Given the description of an element on the screen output the (x, y) to click on. 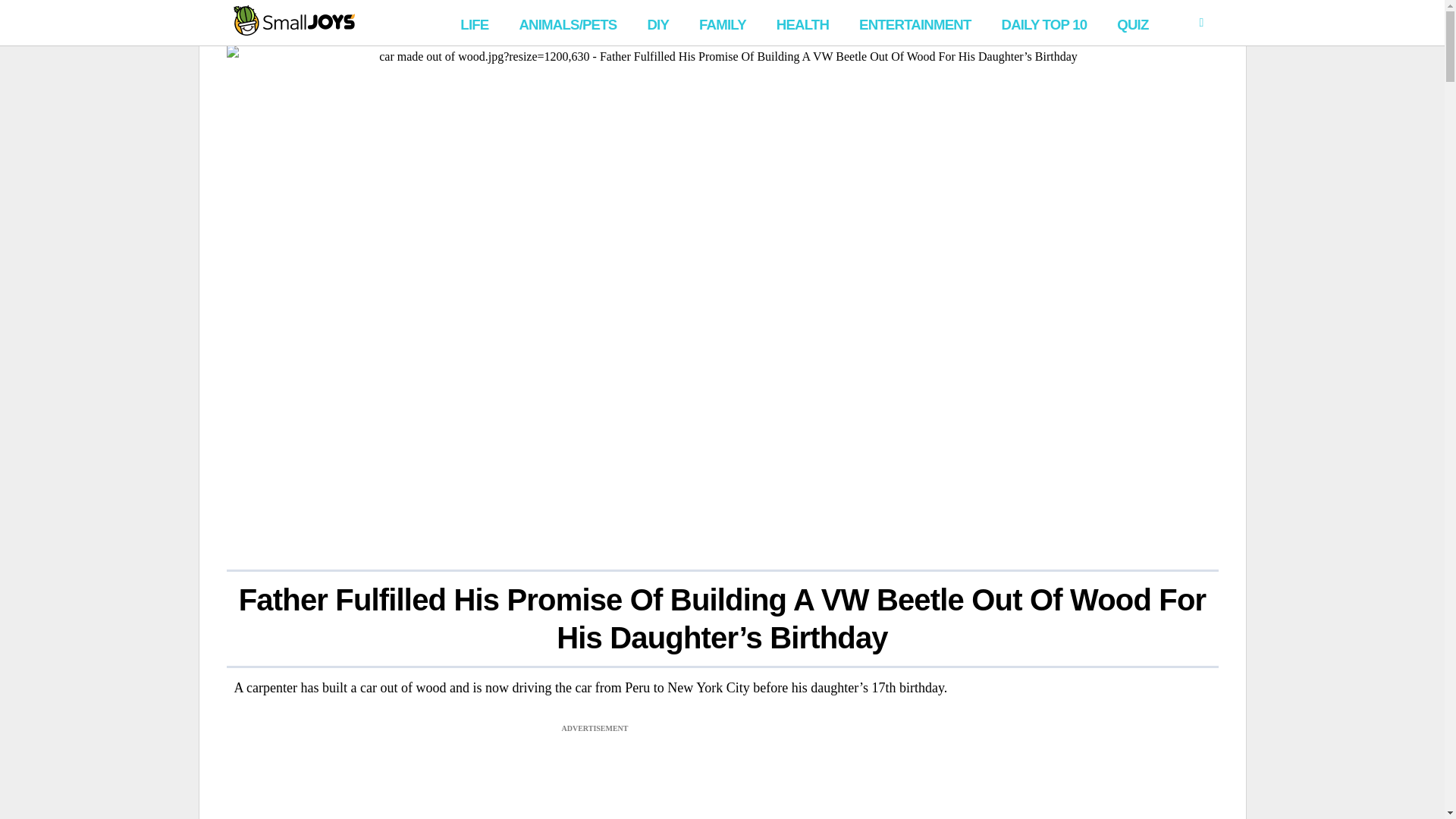
ENTERTAINMENT (914, 22)
FAMILY (722, 22)
LIFE (474, 22)
HEALTH (801, 22)
DAILY TOP 10 (1043, 22)
QUIZ (1132, 22)
